Given the description of an element on the screen output the (x, y) to click on. 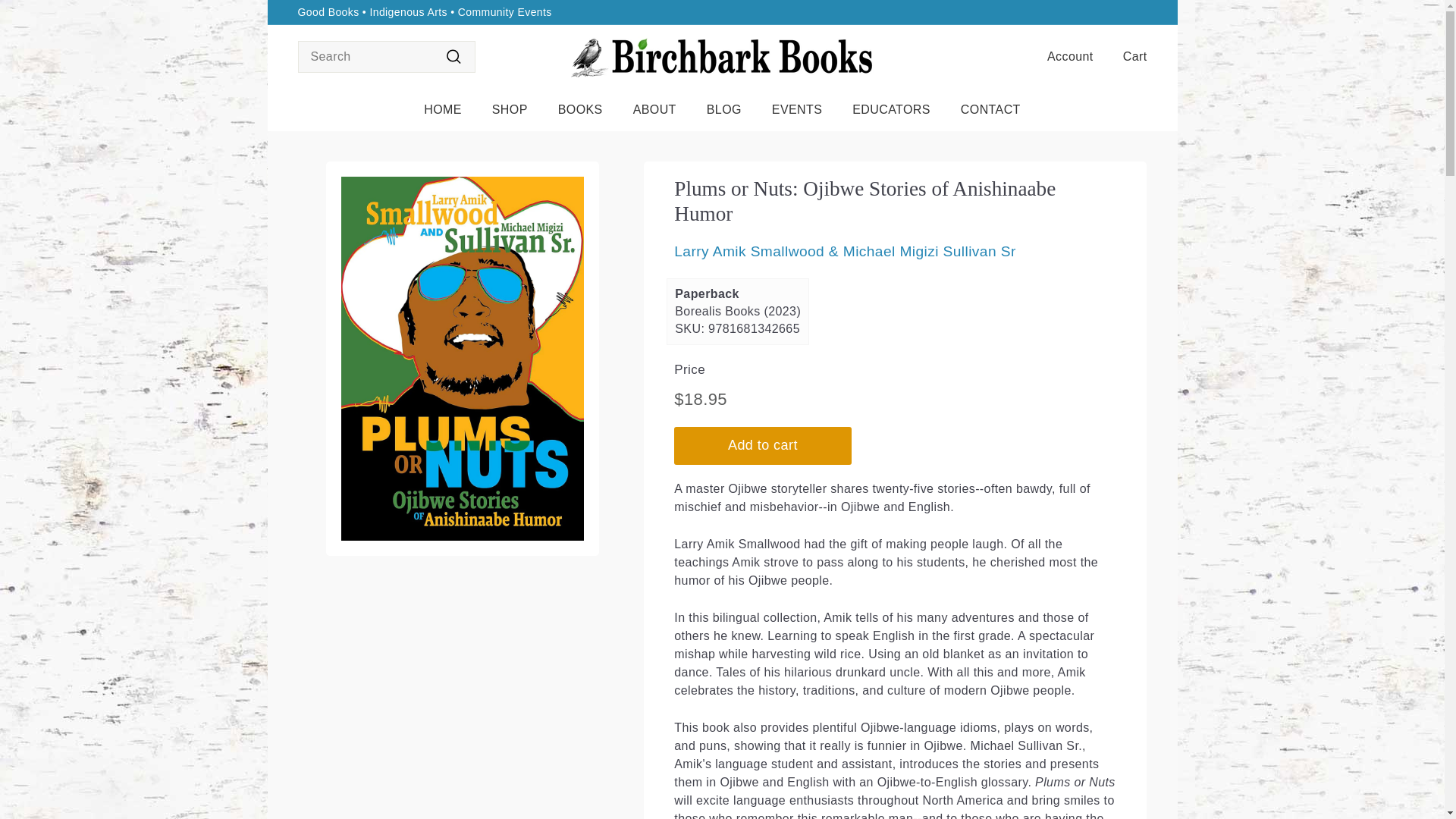
HOME (443, 109)
Cart (1129, 56)
Birchbark Books on Instagram (1142, 12)
Instagram (1142, 12)
Facebook (1134, 12)
Birchbark Books on Facebook (1134, 12)
Account (1064, 56)
